Given the description of an element on the screen output the (x, y) to click on. 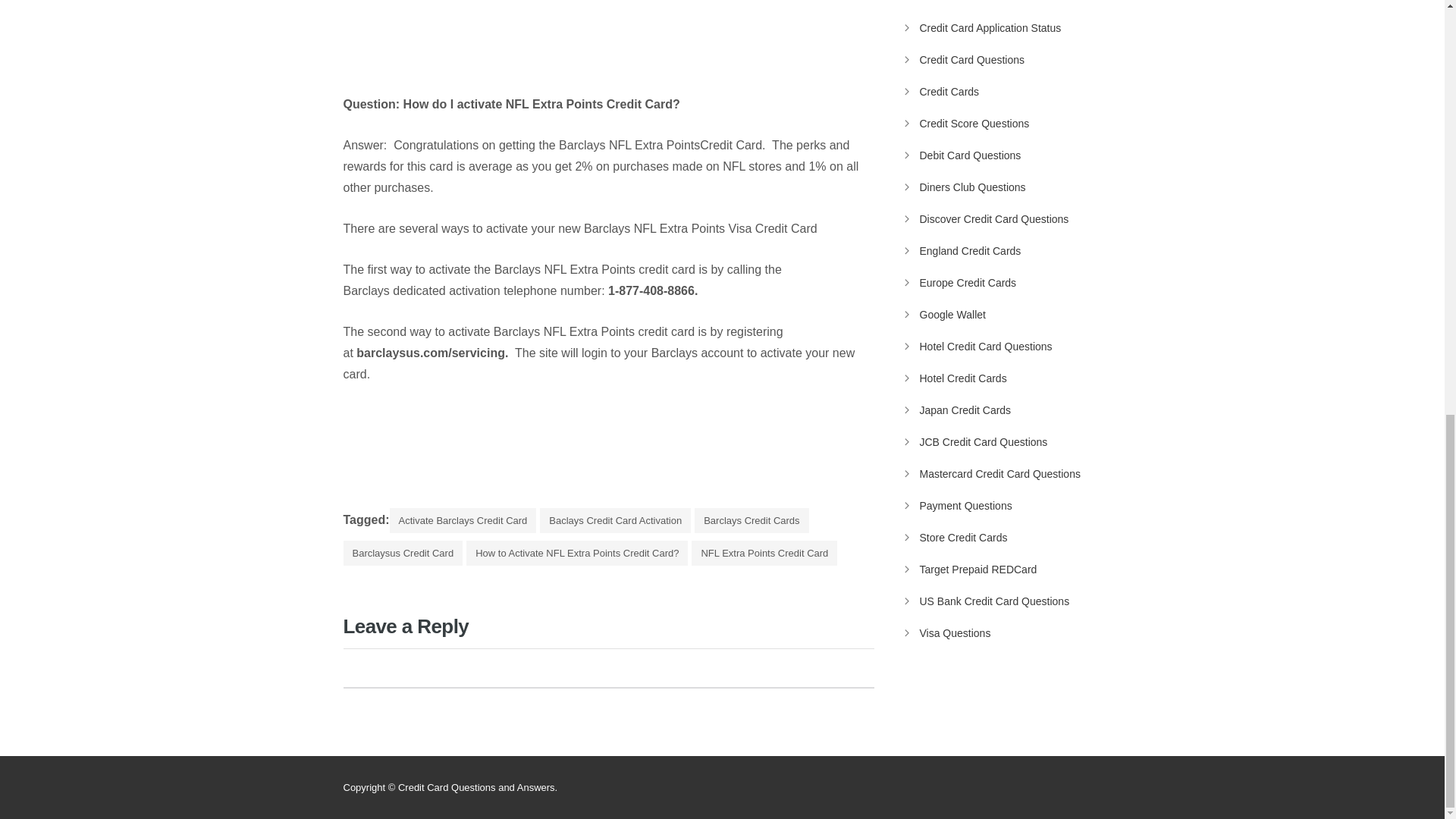
NFL Extra Points Credit Card (764, 552)
Barclaysus Credit Card (402, 552)
Activate Barclays Credit Card (463, 520)
How to Activate NFL Extra Points Credit Card? (576, 552)
Advertisement (469, 43)
Baclays Credit Card Activation (615, 520)
Barclays Credit Cards (751, 520)
